Given the description of an element on the screen output the (x, y) to click on. 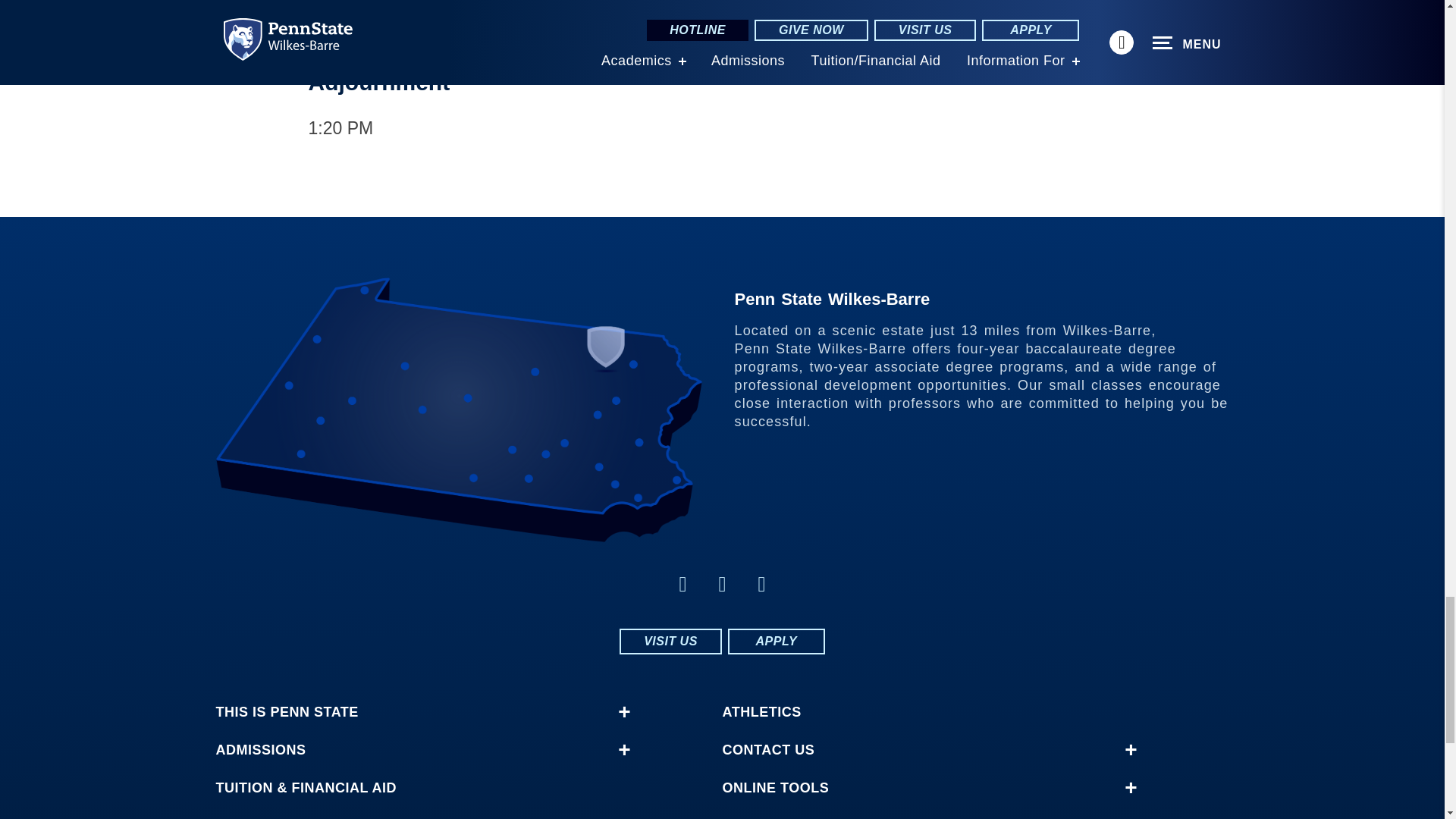
facebook (721, 584)
youtube (761, 584)
instagram (682, 584)
